Given the description of an element on the screen output the (x, y) to click on. 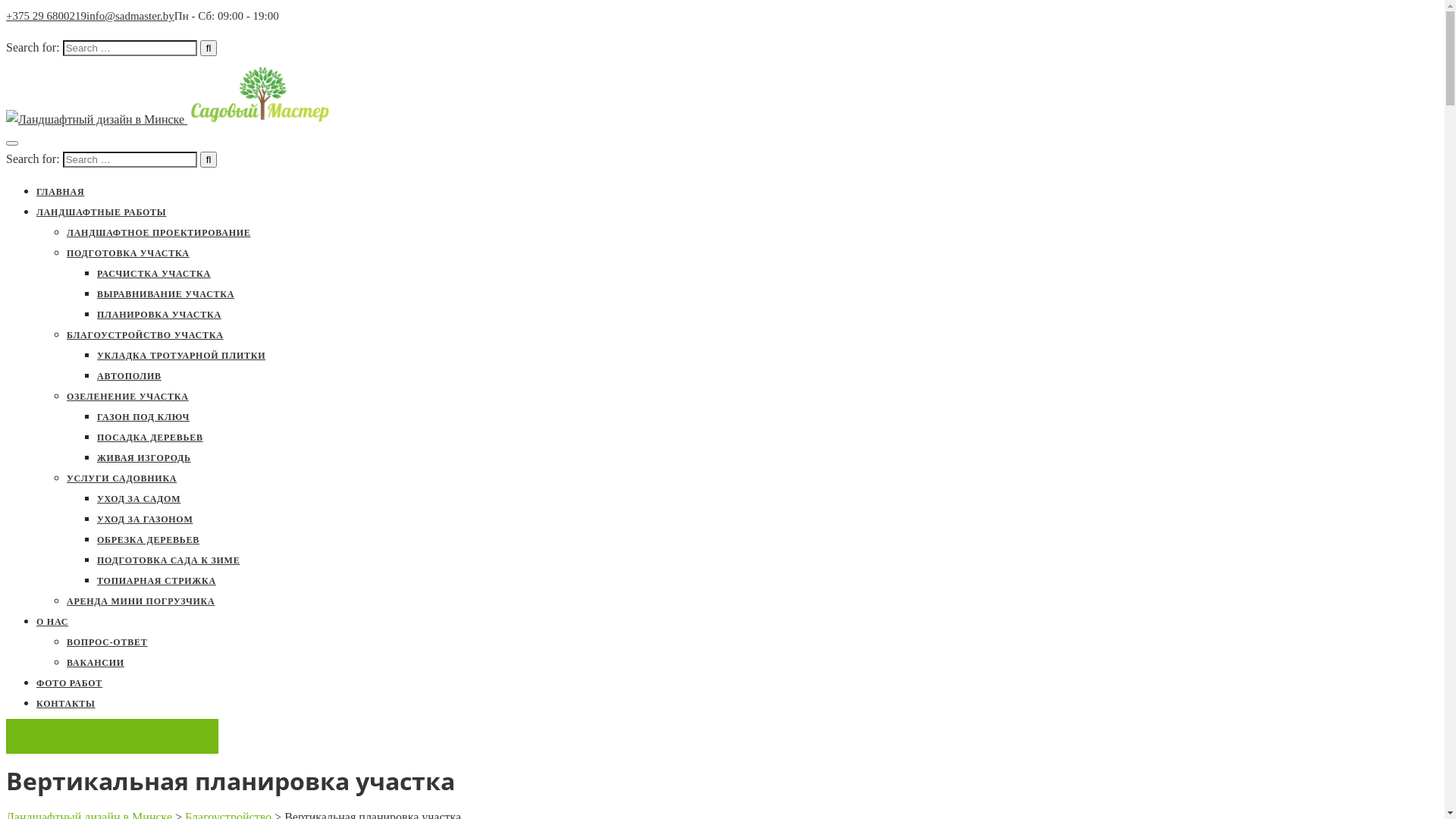
info@sadmaster.by Element type: text (130, 15)
+375 29 6800219 Element type: text (46, 15)
